Given the description of an element on the screen output the (x, y) to click on. 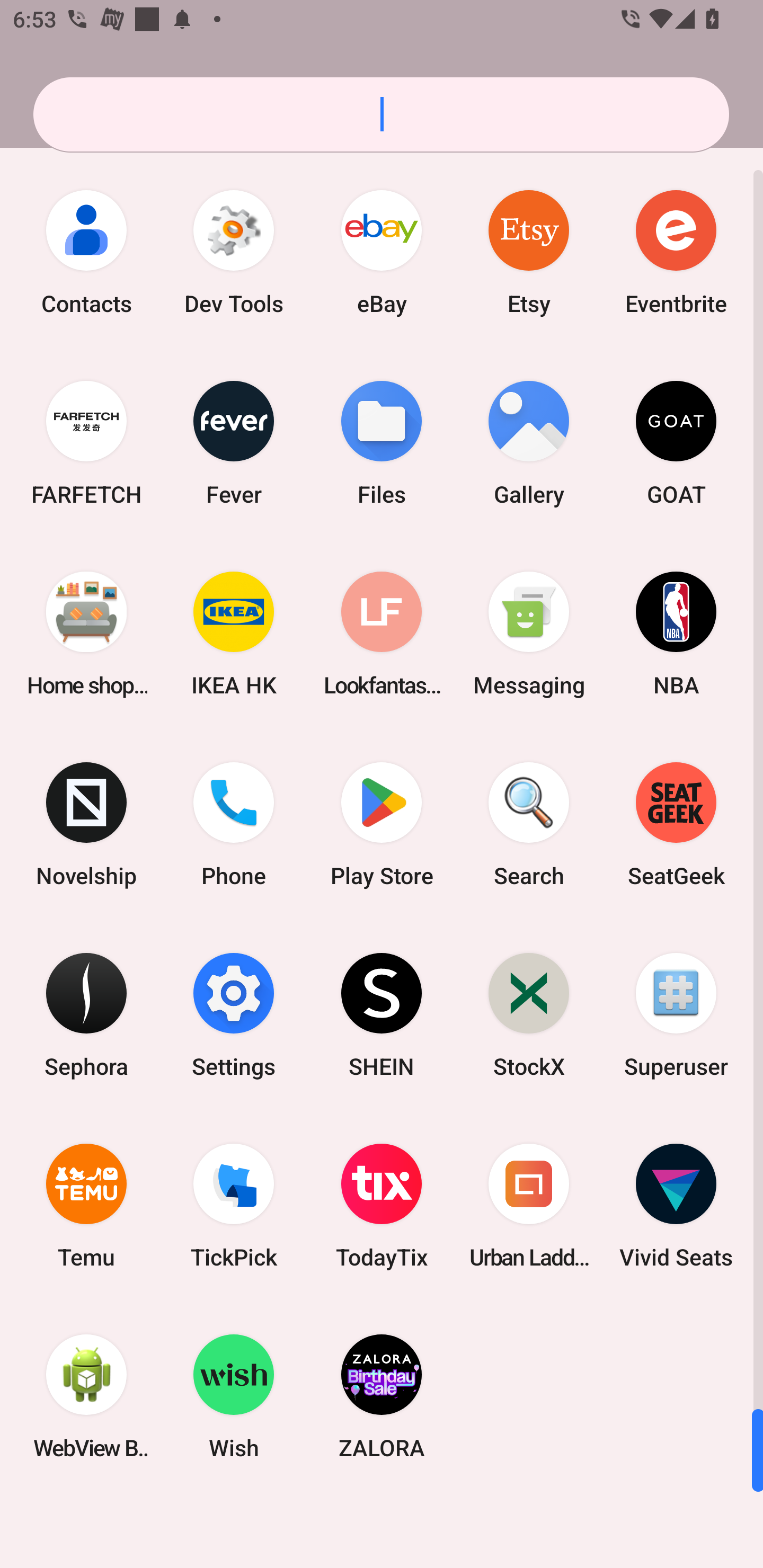
  Search apps (381, 114)
Contacts (86, 252)
Dev Tools (233, 252)
eBay (381, 252)
Etsy (528, 252)
Eventbrite (676, 252)
FARFETCH (86, 442)
Fever (233, 442)
Files (381, 442)
Gallery (528, 442)
GOAT (676, 442)
Home shopping (86, 633)
IKEA HK (233, 633)
Lookfantastic (381, 633)
Messaging (528, 633)
NBA (676, 633)
Novelship (86, 823)
Phone (233, 823)
Play Store (381, 823)
Search (528, 823)
SeatGeek (676, 823)
Sephora (86, 1014)
Settings (233, 1014)
SHEIN (381, 1014)
StockX (528, 1014)
Superuser (676, 1014)
Temu (86, 1205)
TickPick (233, 1205)
TodayTix (381, 1205)
Urban Ladder (528, 1205)
Vivid Seats (676, 1205)
WebView Browser Tester (86, 1396)
Wish (233, 1396)
ZALORA (381, 1396)
